Given the description of an element on the screen output the (x, y) to click on. 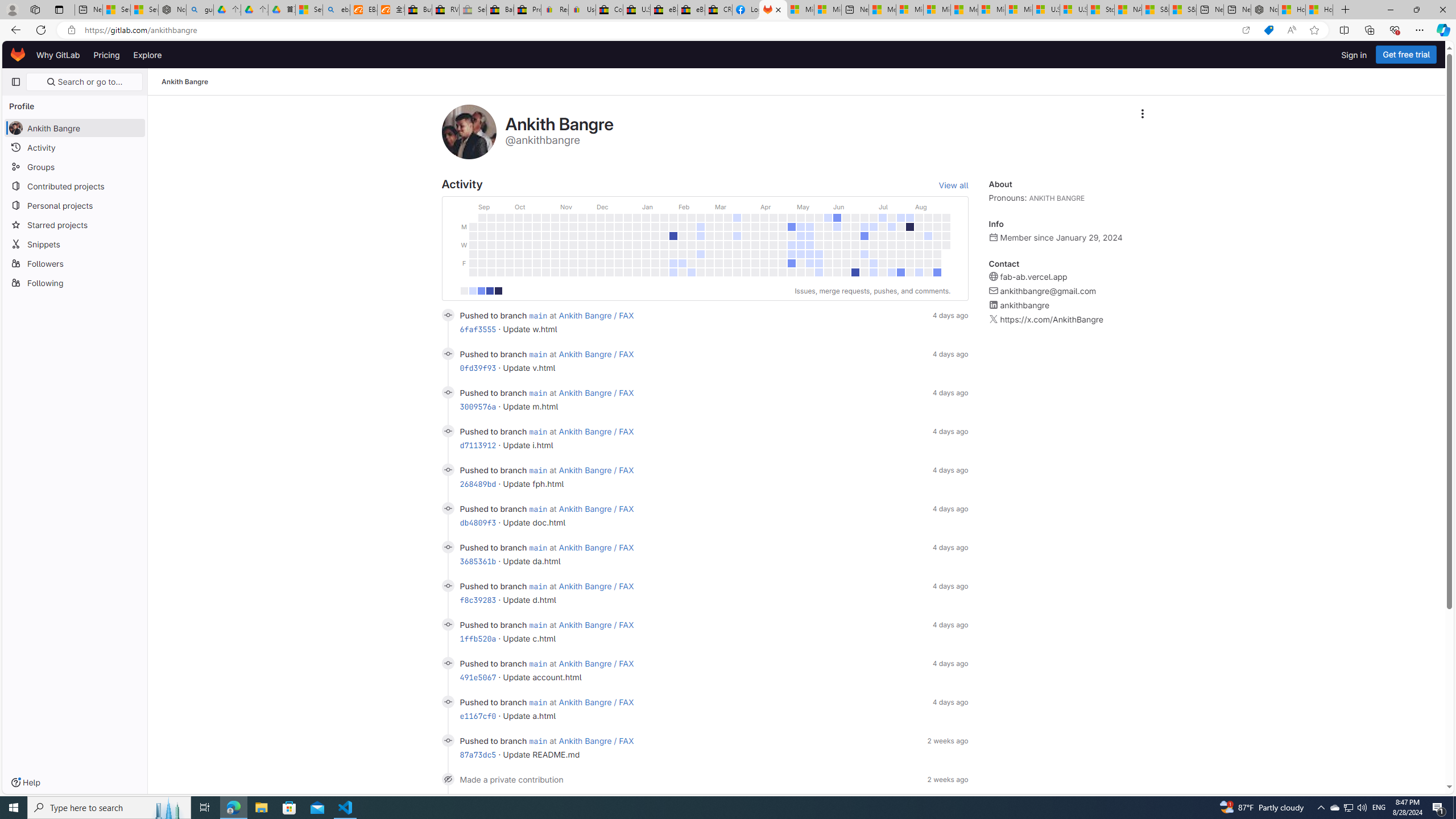
Class: contrib-calendar (704, 243)
